Given the description of an element on the screen output the (x, y) to click on. 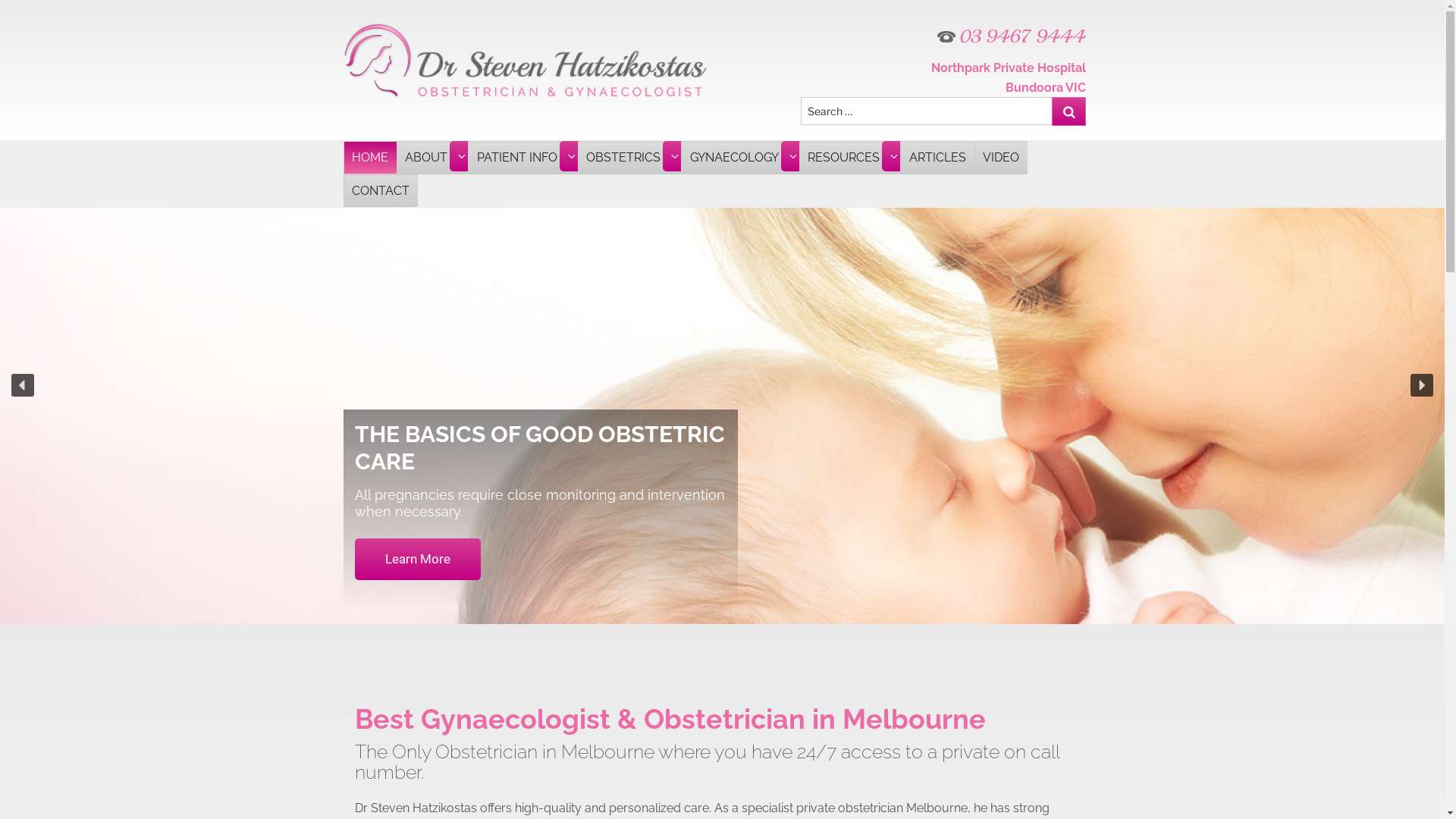
RESOURCES Element type: text (849, 157)
DR STEVEN HATZIKOSTAS Element type: text (535, 16)
CONTACT Element type: text (379, 190)
GYNAECOLOGY Element type: text (739, 157)
Learn More Element type: text (417, 559)
HOME Element type: text (368, 157)
Expand child menu Element type: text (461, 156)
ARTICLES Element type: text (936, 157)
ABOUT Element type: text (431, 157)
VIDEO Element type: text (1000, 157)
Expand child menu Element type: text (571, 156)
Expand child menu Element type: text (674, 156)
Expand child menu Element type: text (793, 156)
03 9467 9444 Element type: text (943, 36)
Expand child menu Element type: text (893, 156)
OBSTETRICS Element type: text (628, 157)
PATIENT INFO Element type: text (522, 157)
Northpark Private Hospital
Bundoora VIC Element type: text (1008, 77)
